Given the description of an element on the screen output the (x, y) to click on. 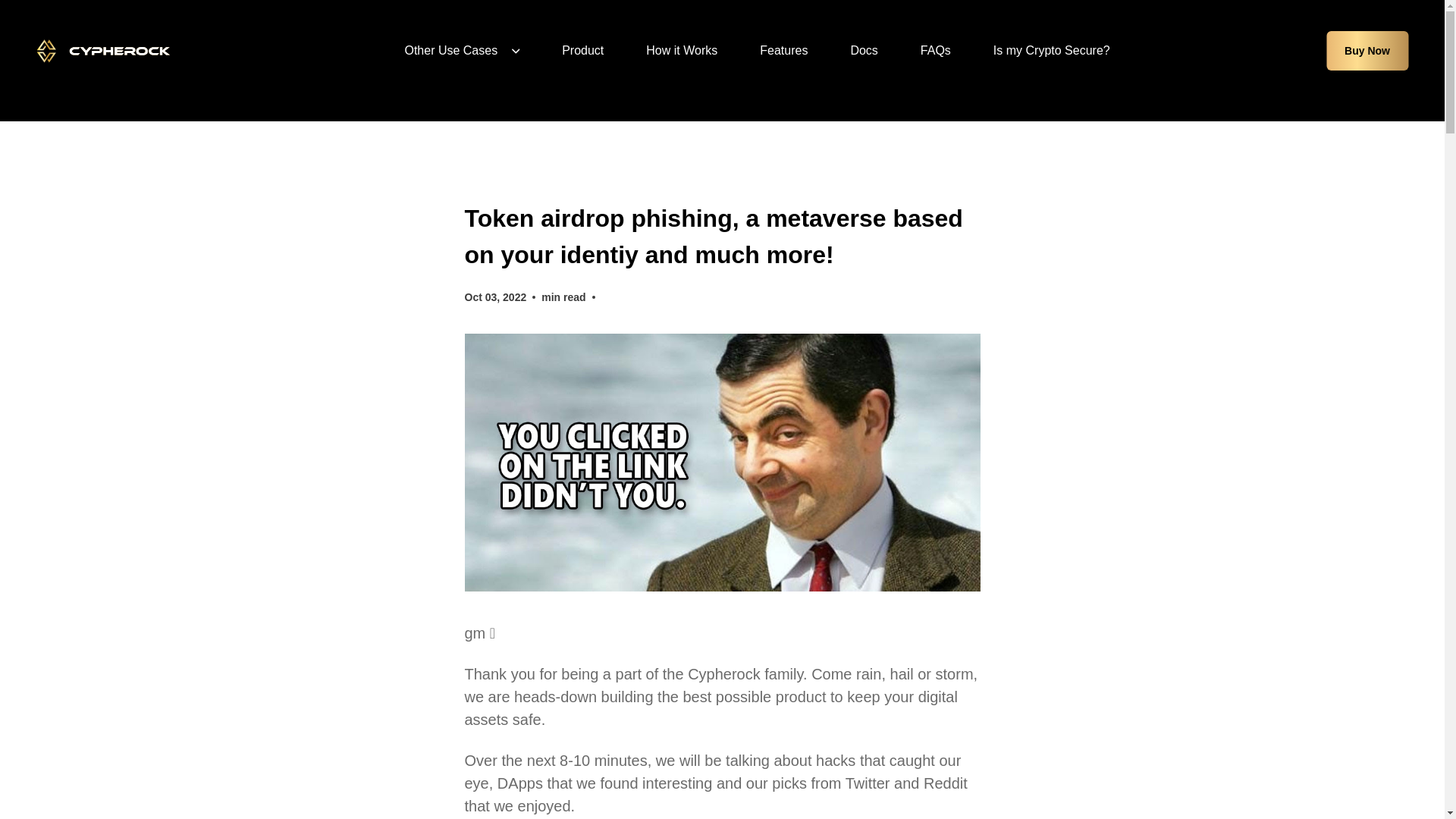
FAQs (935, 50)
How it Works (681, 50)
Is my Crypto Secure? (1050, 50)
Docs (863, 50)
Product (583, 50)
Features (784, 50)
Buy Now (1366, 50)
